Given the description of an element on the screen output the (x, y) to click on. 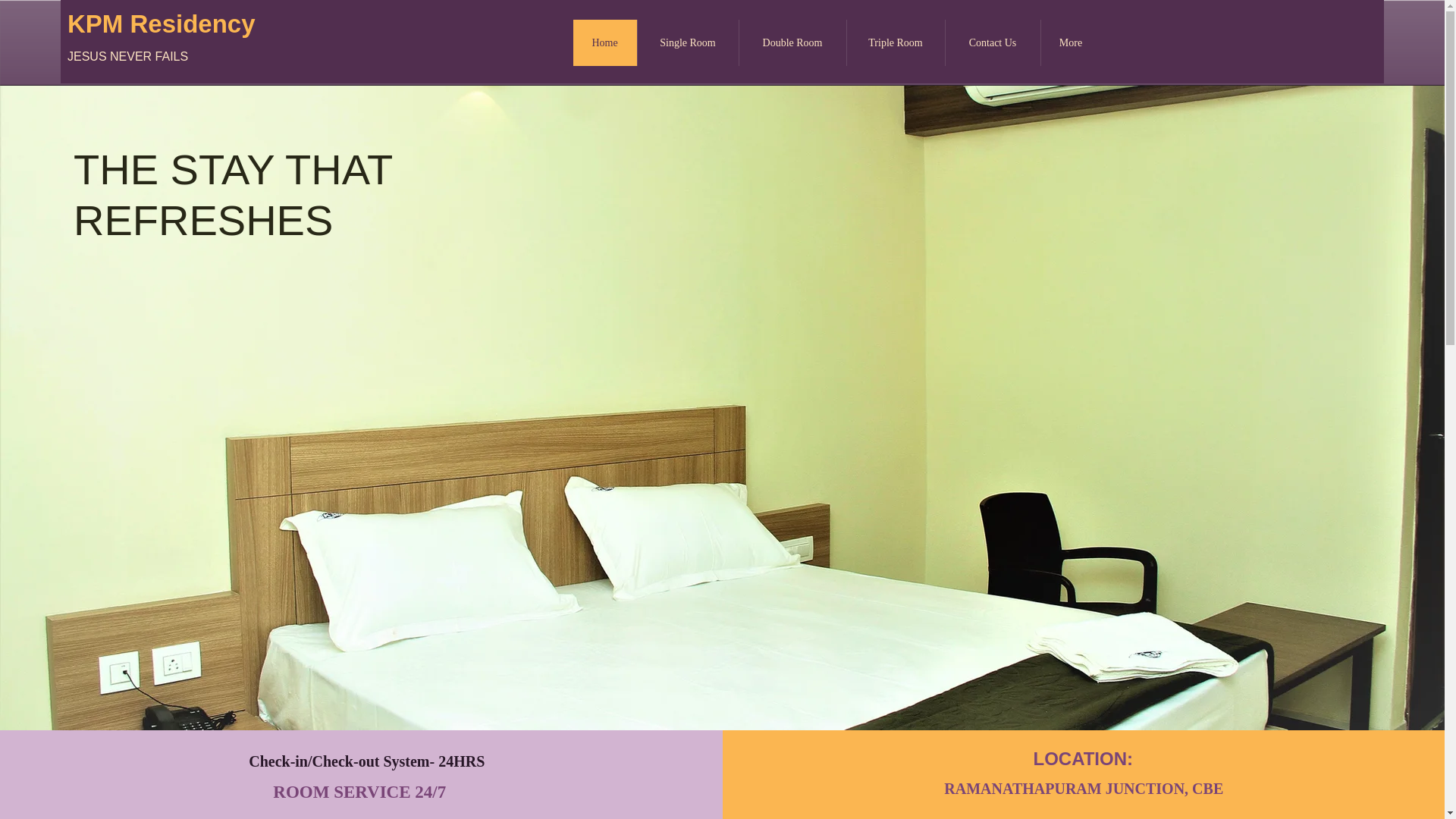
Contact Us (992, 42)
Double Room (791, 42)
Home (605, 42)
KPM Residency (161, 23)
Triple Room (894, 42)
Single Room (687, 42)
